Given the description of an element on the screen output the (x, y) to click on. 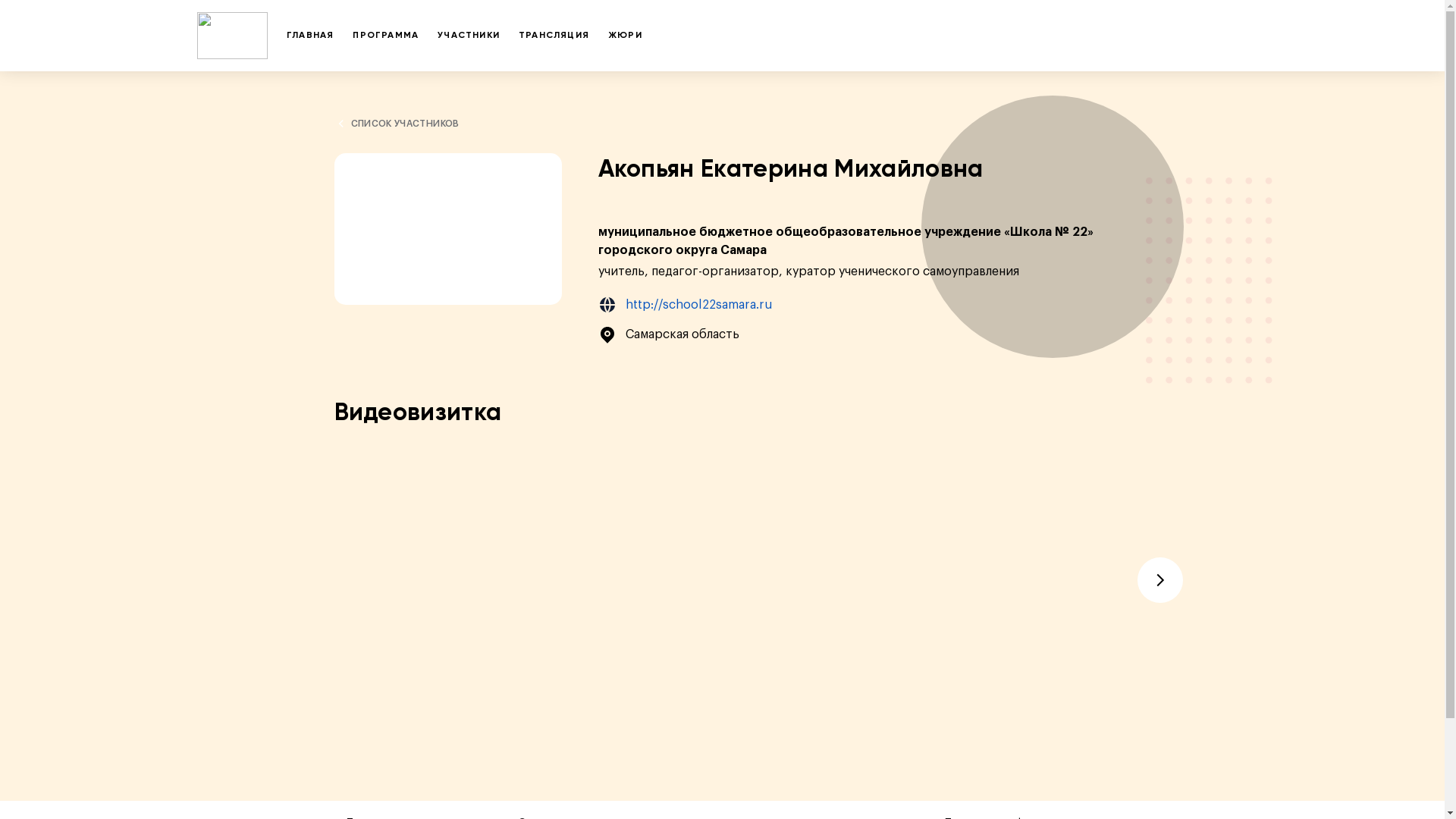
http://school22samara.ru Element type: text (853, 304)
